Given the description of an element on the screen output the (x, y) to click on. 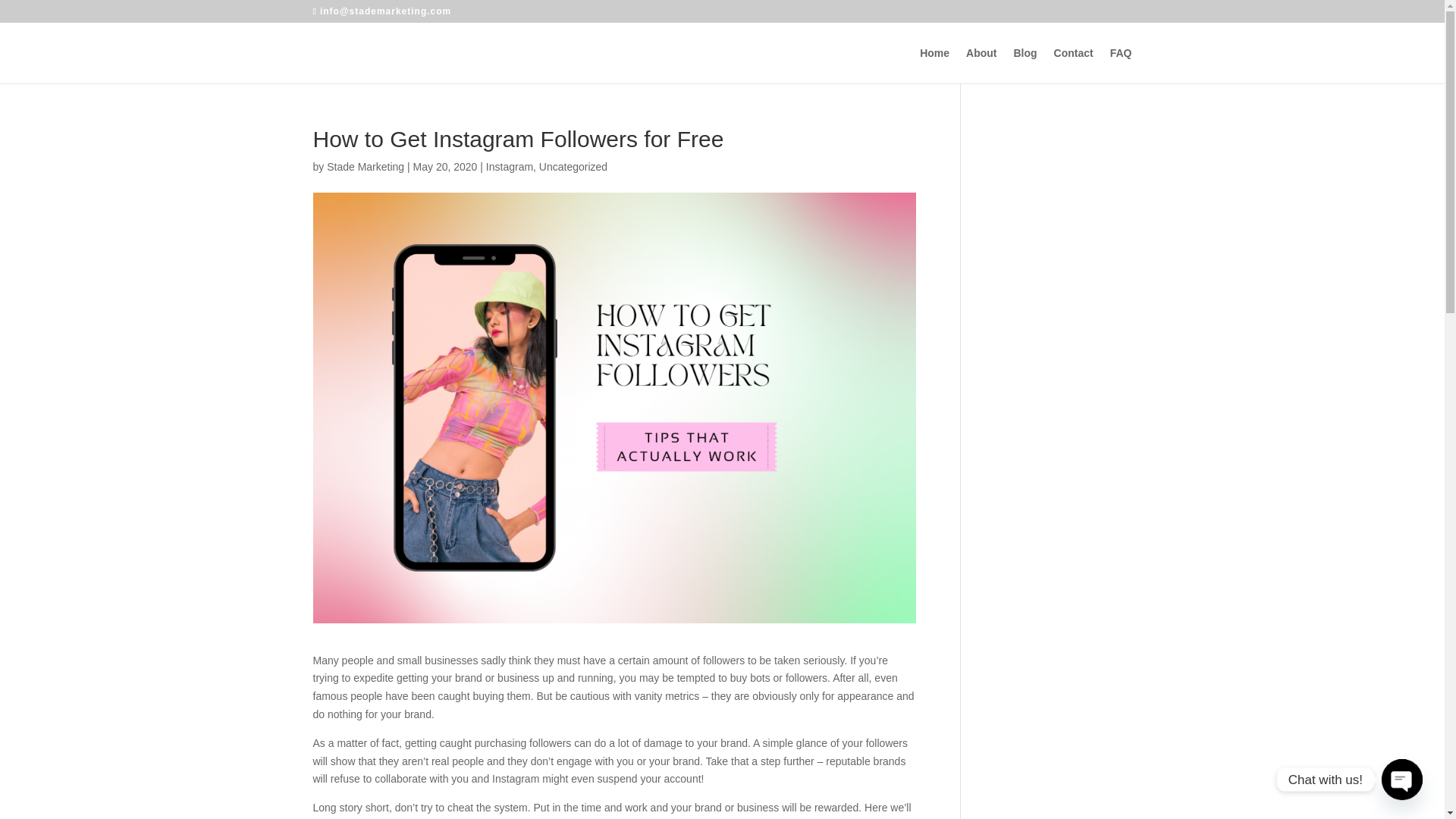
Instagram (509, 166)
Stade Marketing (365, 166)
Contact (1073, 65)
Uncategorized (572, 166)
Posts by Stade Marketing (365, 166)
